Given the description of an element on the screen output the (x, y) to click on. 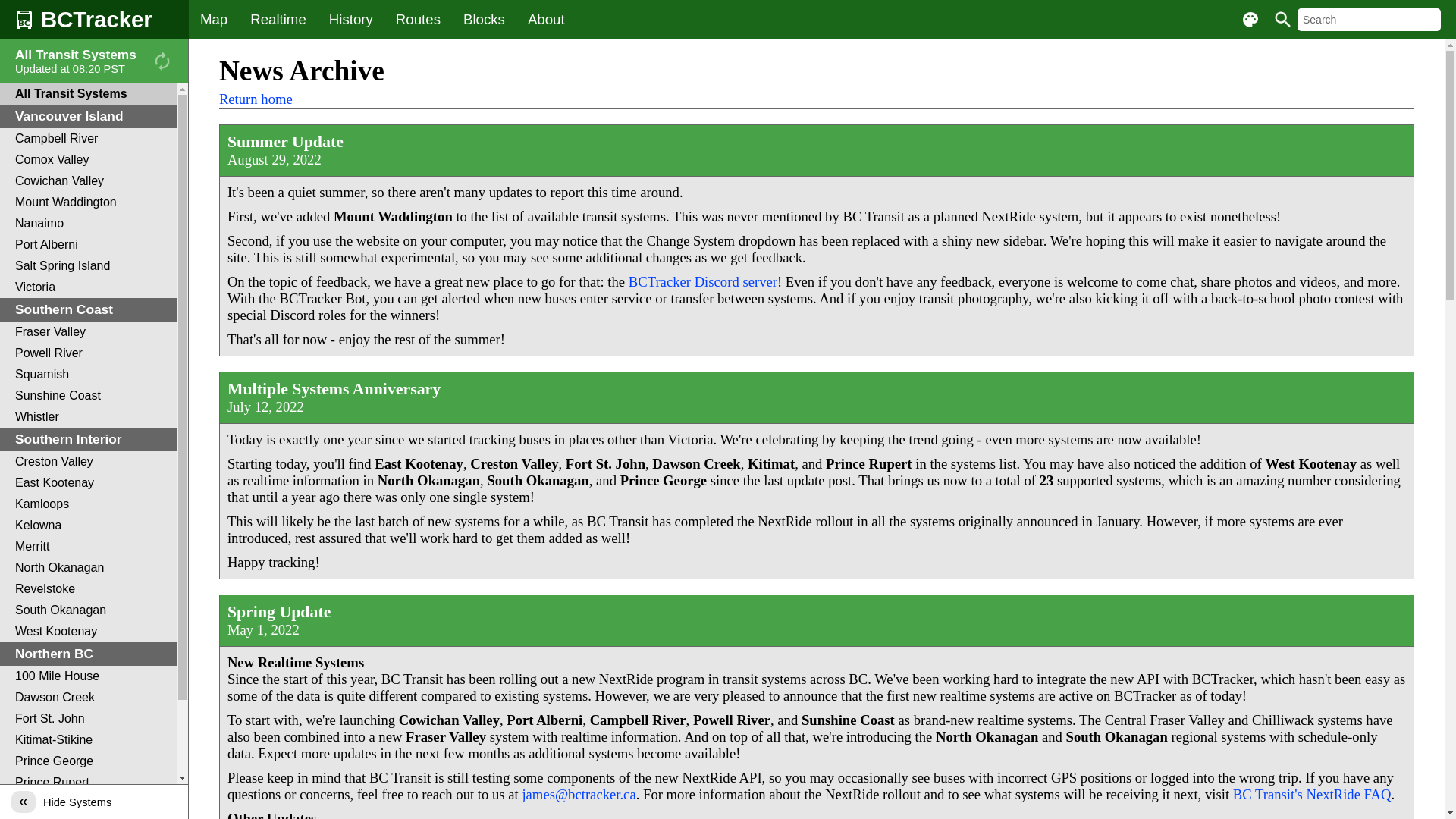
Port Alberni Element type: text (88, 244)
Comox Valley Element type: text (88, 159)
Whistler Element type: text (88, 416)
Mount Waddington Element type: text (88, 202)
Revelstoke Element type: text (88, 588)
Merritt Element type: text (88, 546)
South Okanagan Element type: text (88, 610)
West Kootenay Element type: text (88, 631)
Blocks Element type: text (483, 19)
Map Element type: text (213, 19)
Powell River Element type: text (88, 353)
BCTracker Discord server Element type: text (702, 281)
Return home Element type: text (255, 98)
Campbell River Element type: text (88, 138)
Prince George Element type: text (88, 760)
Fraser Valley Element type: text (88, 331)
About Element type: text (546, 19)
Dawson Creek Element type: text (88, 697)
Sunshine Coast Element type: text (88, 395)
Cowichan Valley Element type: text (88, 180)
History Element type: text (350, 19)
Routes Element type: text (417, 19)
BC Transit's NextRide FAQ Element type: text (1312, 794)
East Kootenay Element type: text (88, 482)
Creston Valley Element type: text (88, 461)
BCTracker Element type: text (94, 19)
Prince Rupert Element type: text (88, 782)
Salt Spring Island Element type: text (88, 265)
North Okanagan Element type: text (88, 567)
Victoria Element type: text (88, 287)
Nanaimo Element type: text (88, 223)
Kelowna Element type: text (88, 525)
Squamish Element type: text (88, 374)
100 Mile House Element type: text (88, 676)
Realtime Element type: text (277, 19)
Kitimat-Stikine Element type: text (88, 739)
Fort St. John Element type: text (88, 718)
james@bctracker.ca Element type: text (578, 794)
Kamloops Element type: text (88, 503)
Quesnel Element type: text (88, 803)
